Given the description of an element on the screen output the (x, y) to click on. 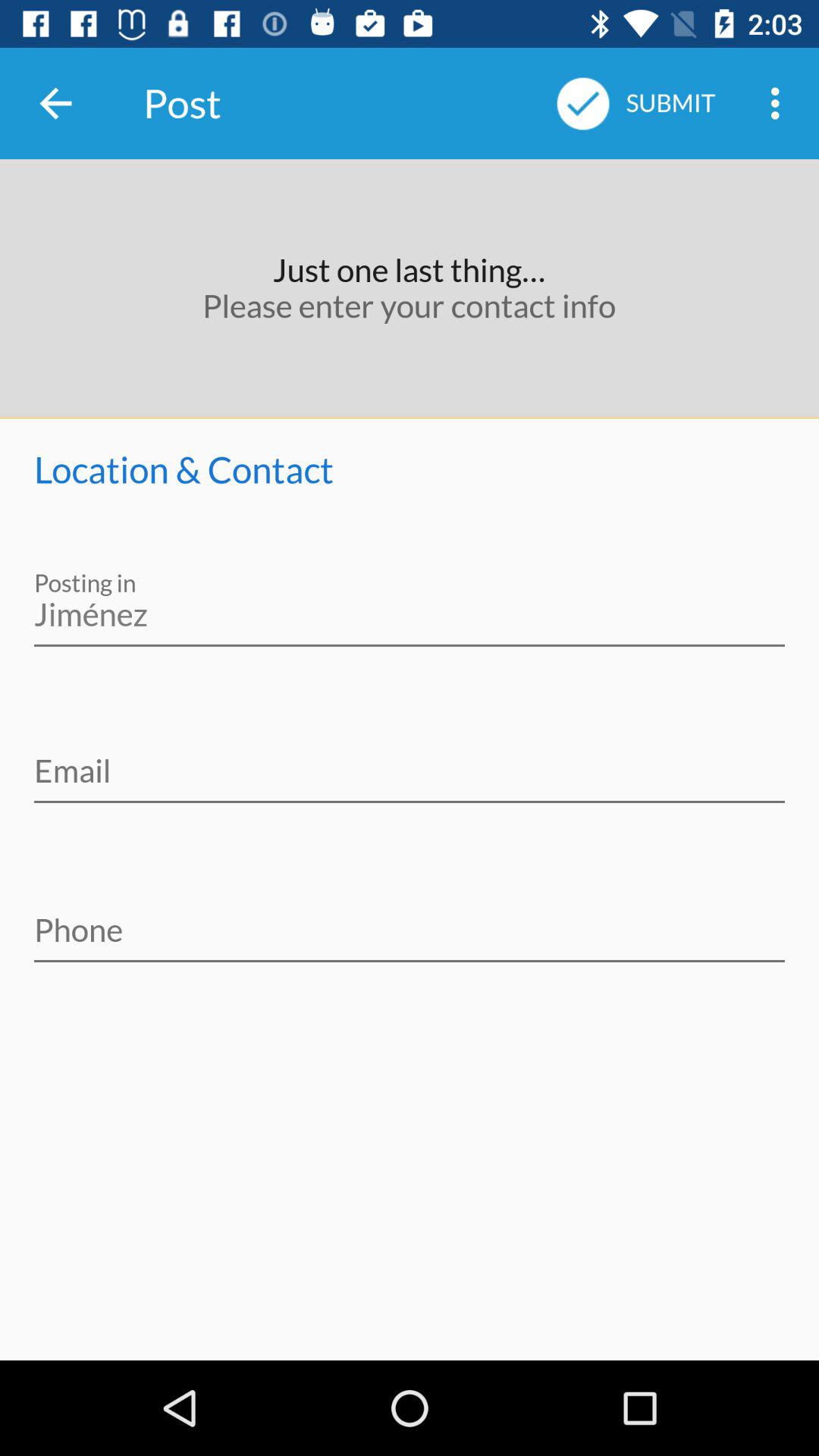
toggle verify information (409, 760)
